Given the description of an element on the screen output the (x, y) to click on. 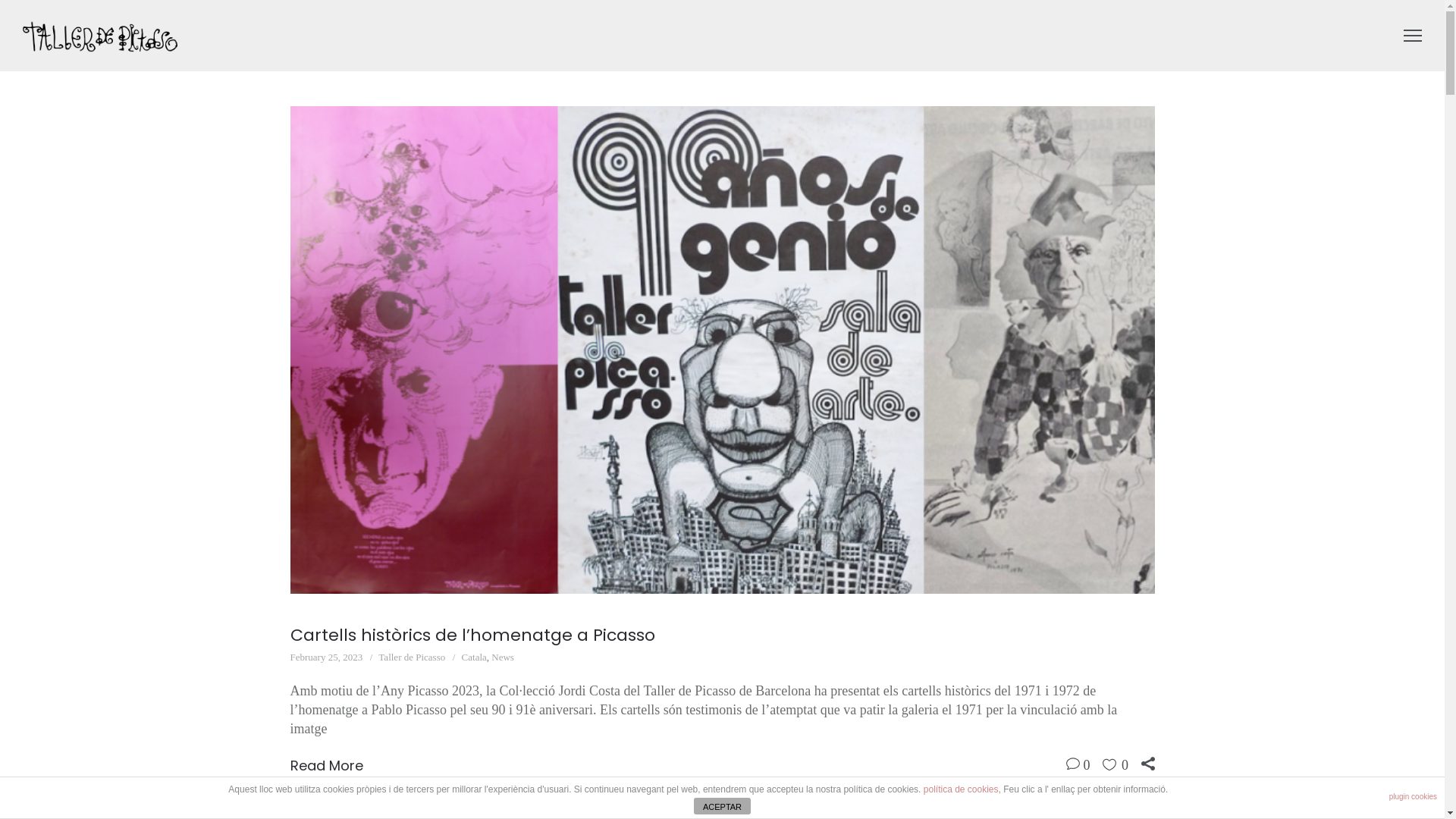
Catala Element type: text (473, 656)
0 Element type: text (1085, 764)
February 25, 2023 Element type: text (325, 656)
Taller de Picasso Element type: text (411, 656)
plugin cookies Element type: text (1413, 796)
ACEPTAR Element type: text (721, 805)
Read More Element type: text (325, 765)
News Element type: text (502, 656)
